Given the description of an element on the screen output the (x, y) to click on. 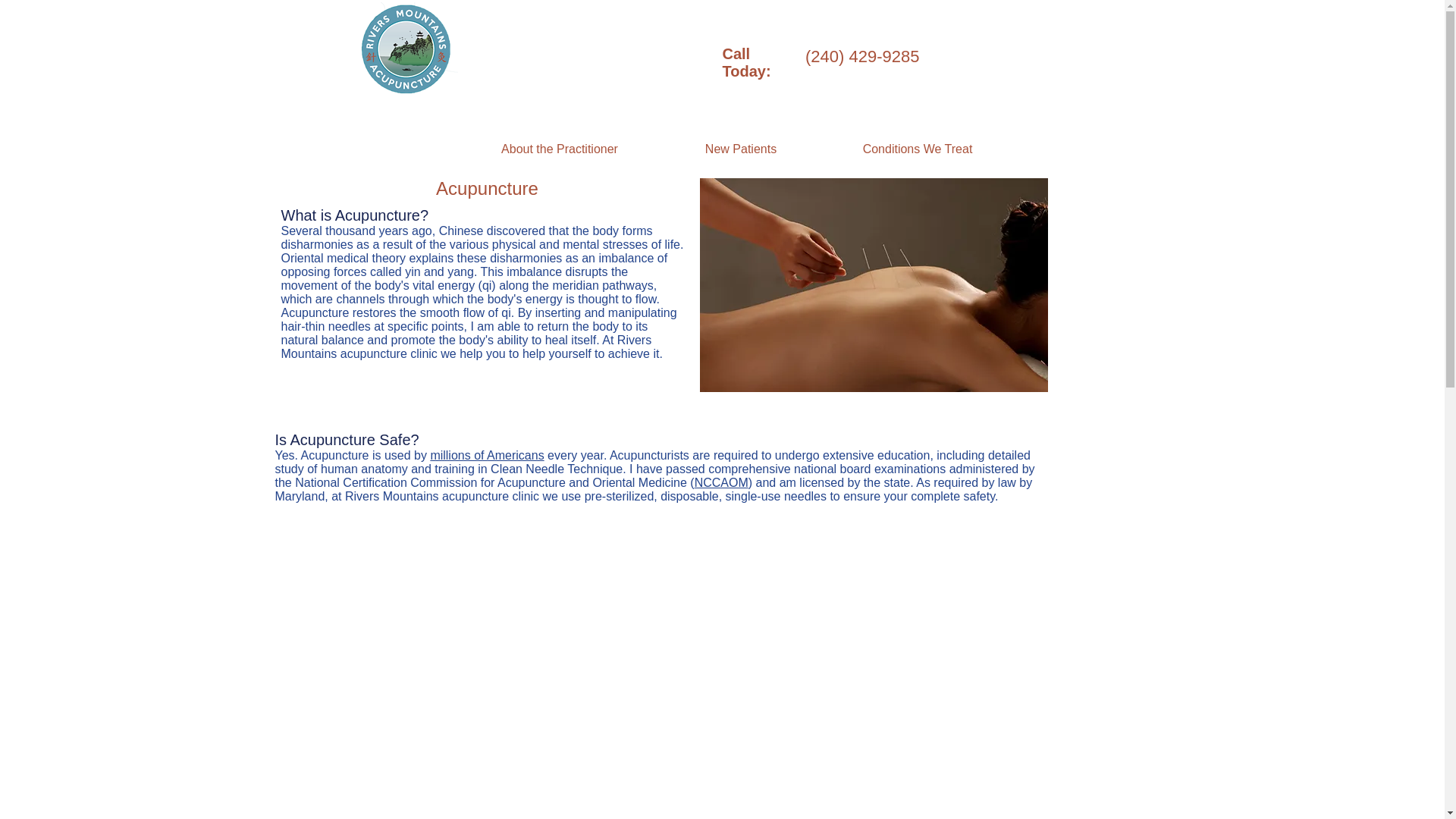
NCCAOM (721, 481)
Conditions We Treat (917, 149)
millions of Americans (486, 454)
About the Practitioner (559, 149)
